Given the description of an element on the screen output the (x, y) to click on. 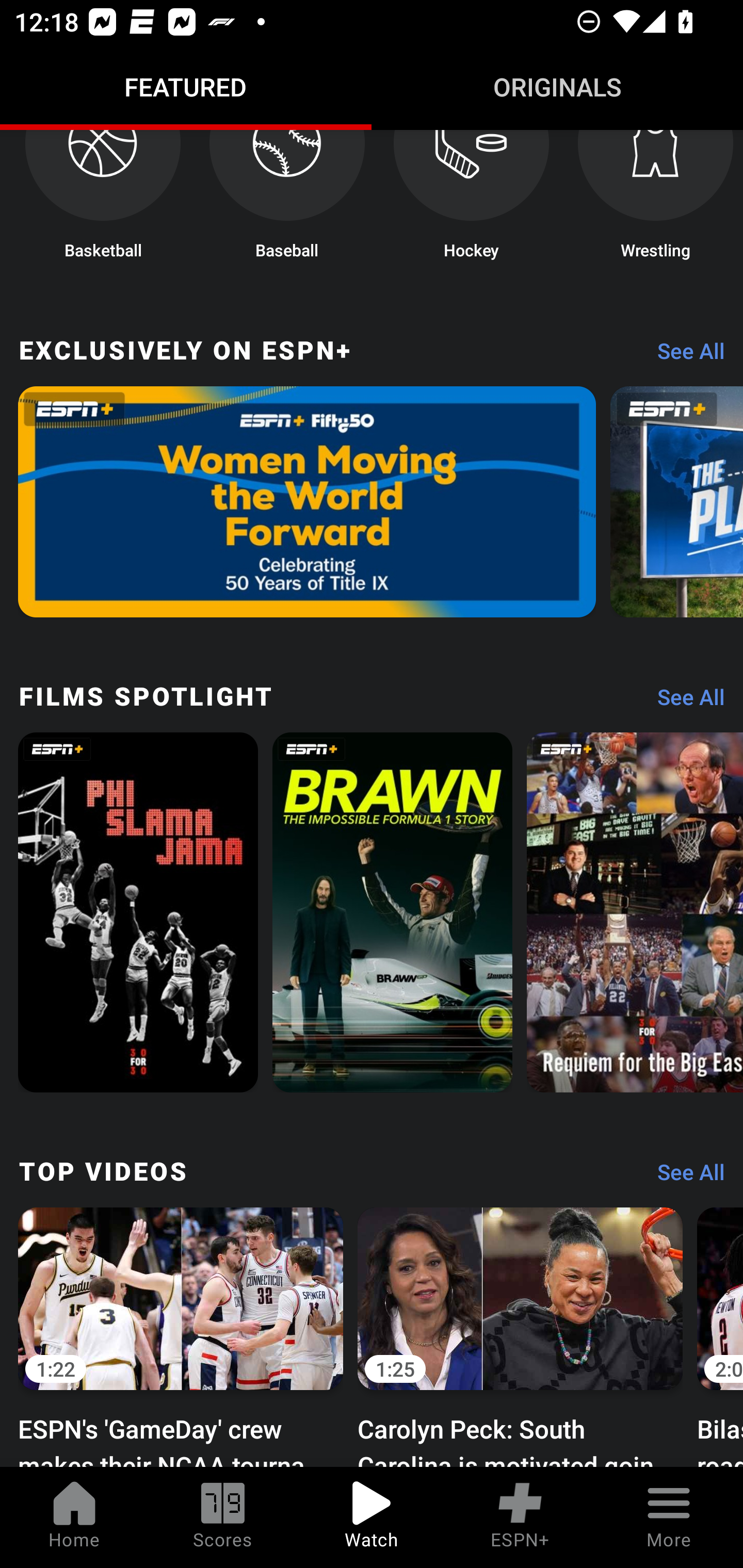
Originals ORIGINALS (557, 86)
Basketball (102, 200)
Baseball (286, 200)
Hockey (471, 200)
Wrestling (655, 200)
See All (683, 355)
See All (683, 701)
See All (683, 1176)
Home (74, 1517)
Scores (222, 1517)
ESPN+ (519, 1517)
More (668, 1517)
